Given the description of an element on the screen output the (x, y) to click on. 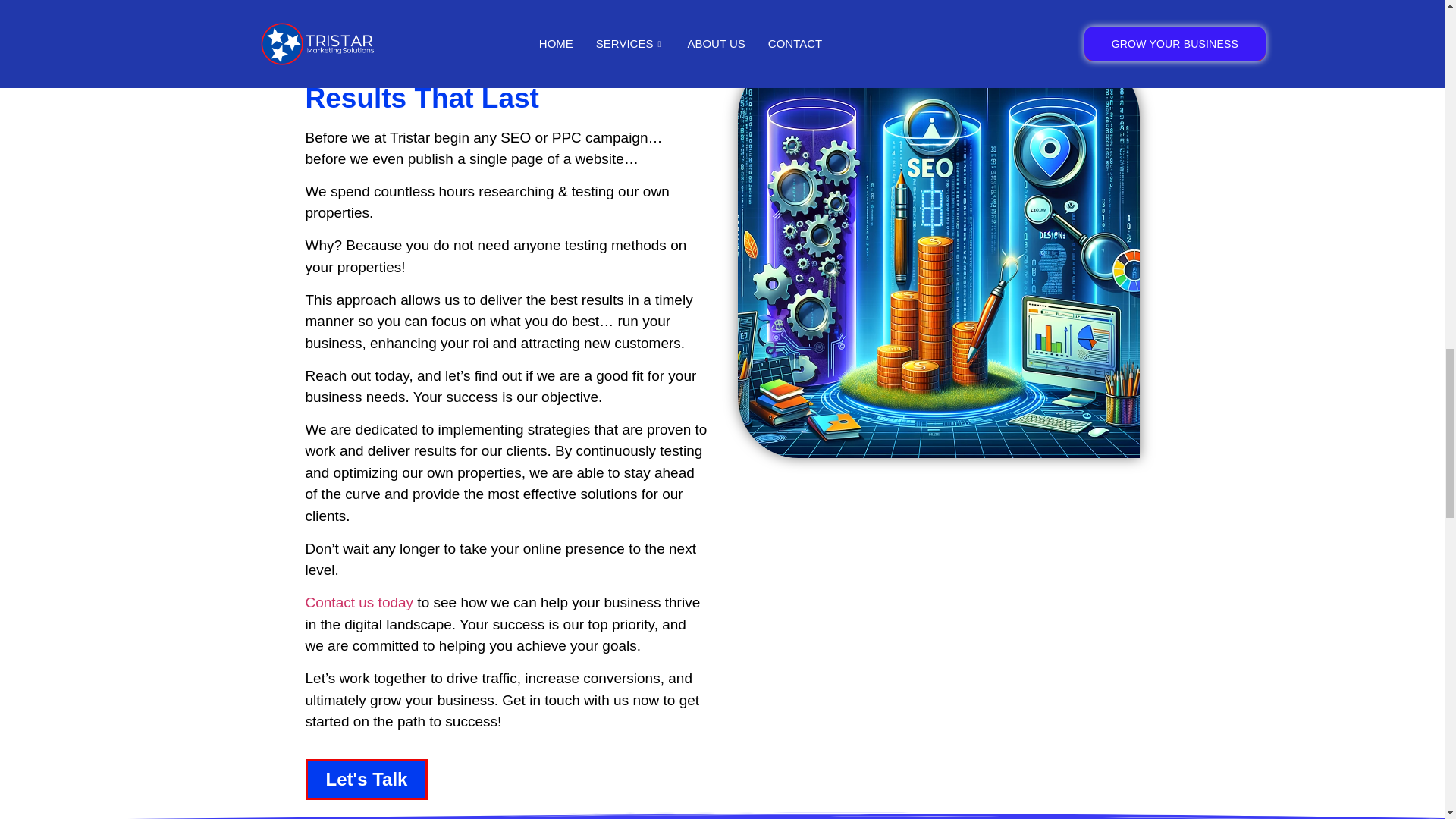
Contact us today (358, 602)
Let's Talk (366, 779)
Start Here (1010, 7)
